Given the description of an element on the screen output the (x, y) to click on. 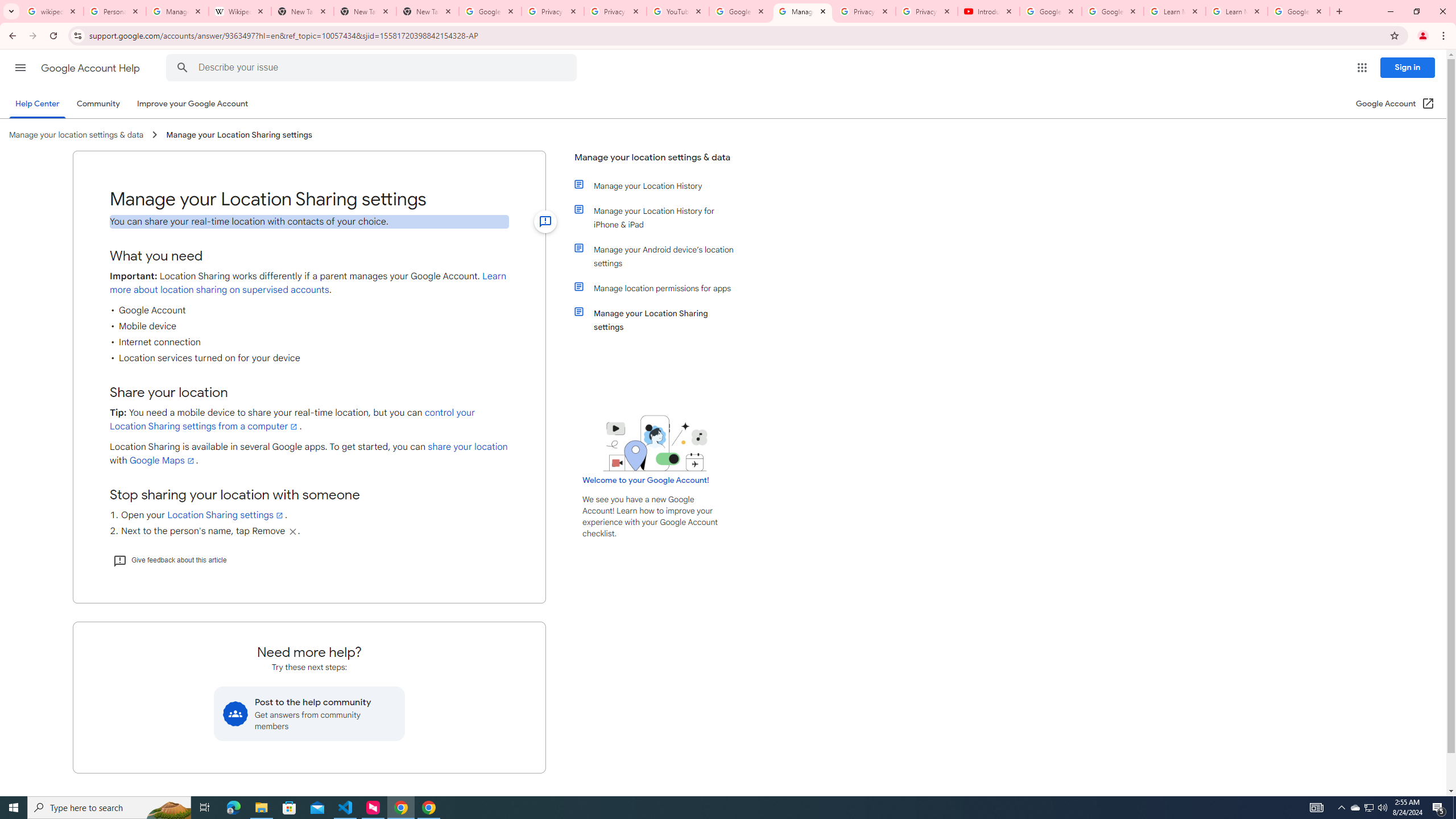
YouTube (678, 11)
Community (97, 103)
Google Drive: Sign-in (490, 11)
Personalization & Google Search results - Google Search Help (114, 11)
Google Account Help (1050, 11)
New Tab (365, 11)
